Given the description of an element on the screen output the (x, y) to click on. 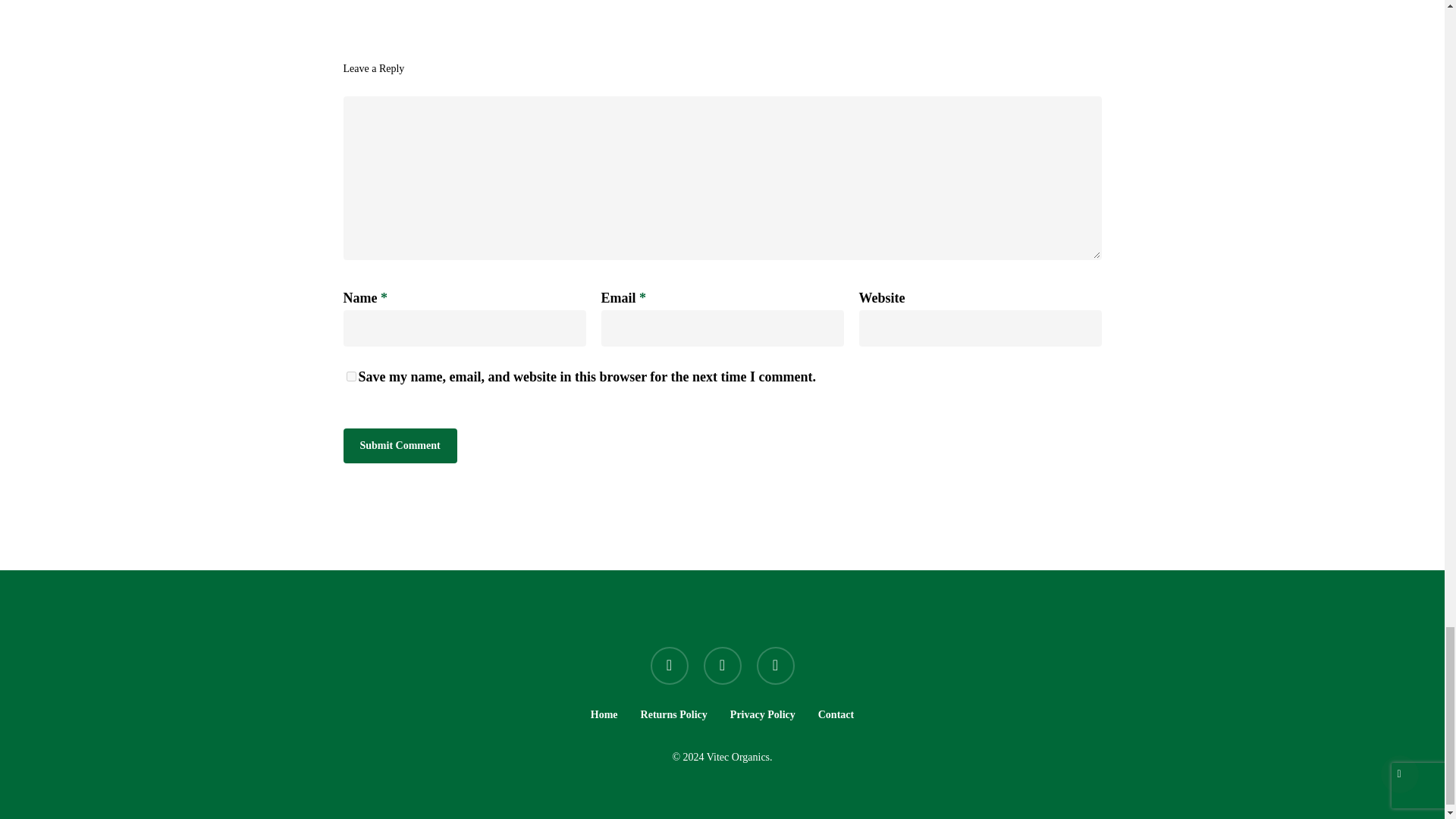
yes (350, 376)
Submit Comment (399, 445)
